Given the description of an element on the screen output the (x, y) to click on. 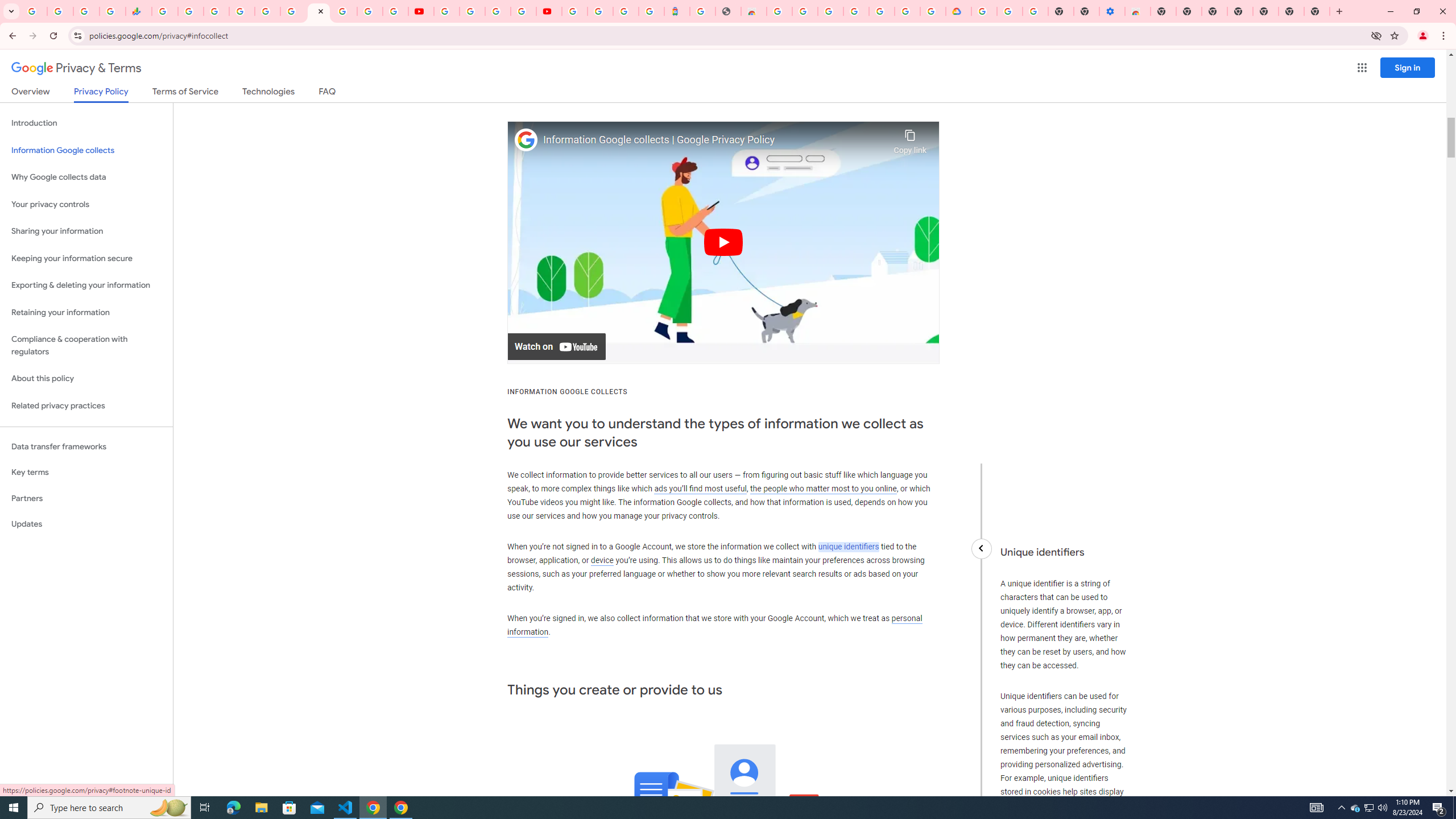
Chrome Web Store - Accessibility extensions (1137, 11)
Sharing your information (86, 230)
Sign in - Google Accounts (907, 11)
Your privacy controls (86, 204)
device (601, 560)
